Given the description of an element on the screen output the (x, y) to click on. 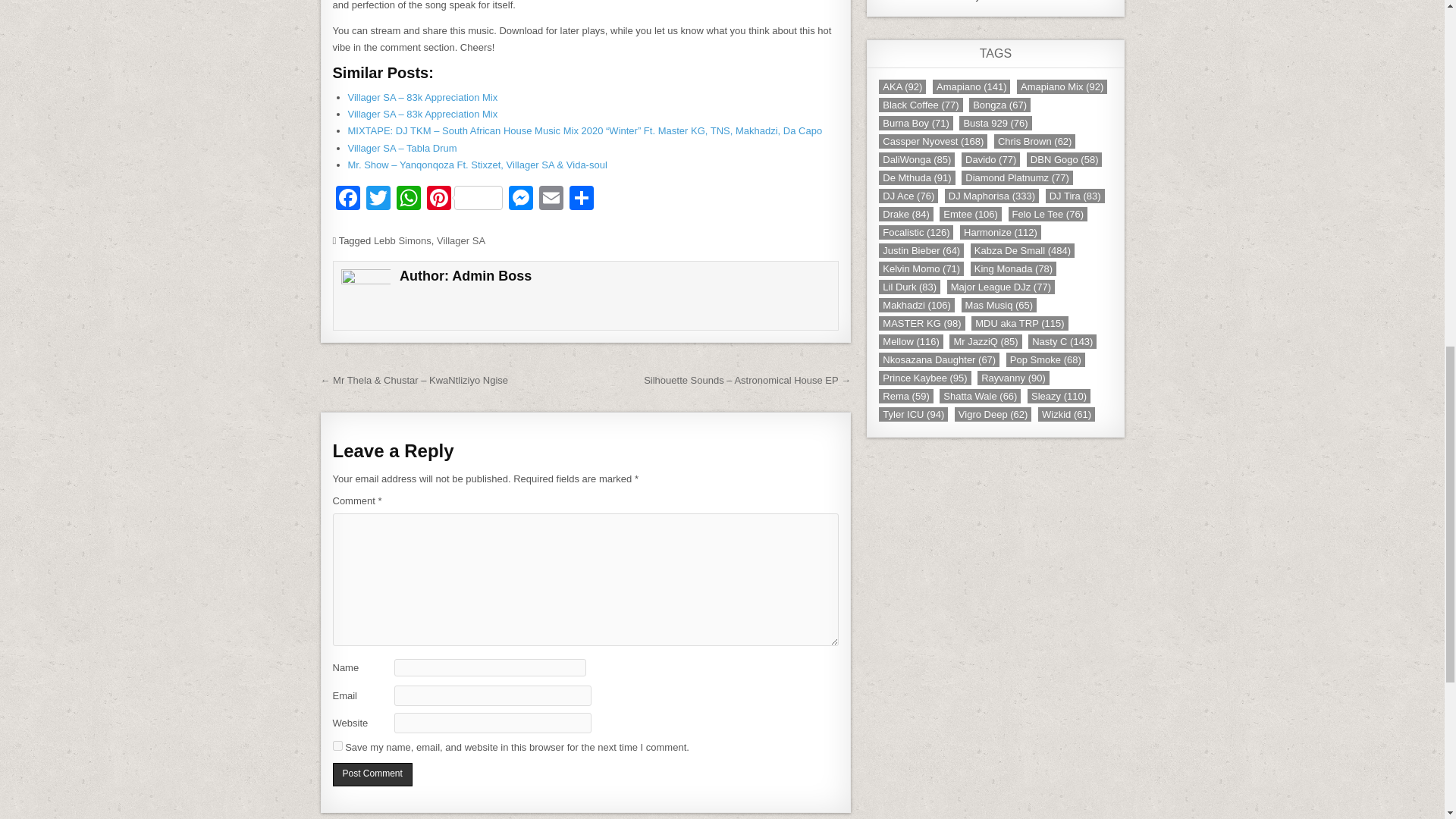
Lebb Simons (402, 240)
Pinterest (464, 199)
Post Comment (371, 774)
WhatsApp (408, 199)
Email (550, 199)
Pinterest (464, 199)
Messenger (520, 199)
Twitter (377, 199)
Twitter (377, 199)
Post Comment (371, 774)
